Given the description of an element on the screen output the (x, y) to click on. 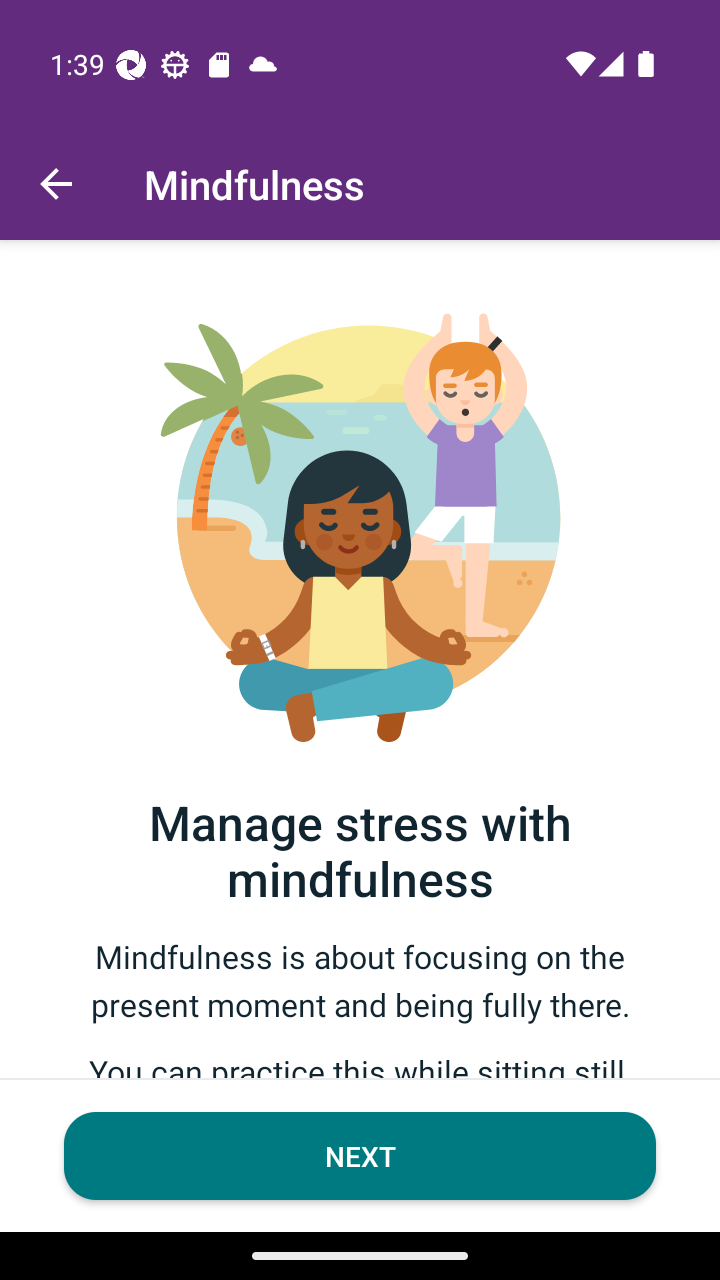
Navigate up (56, 184)
NEXT (359, 1156)
